Given the description of an element on the screen output the (x, y) to click on. 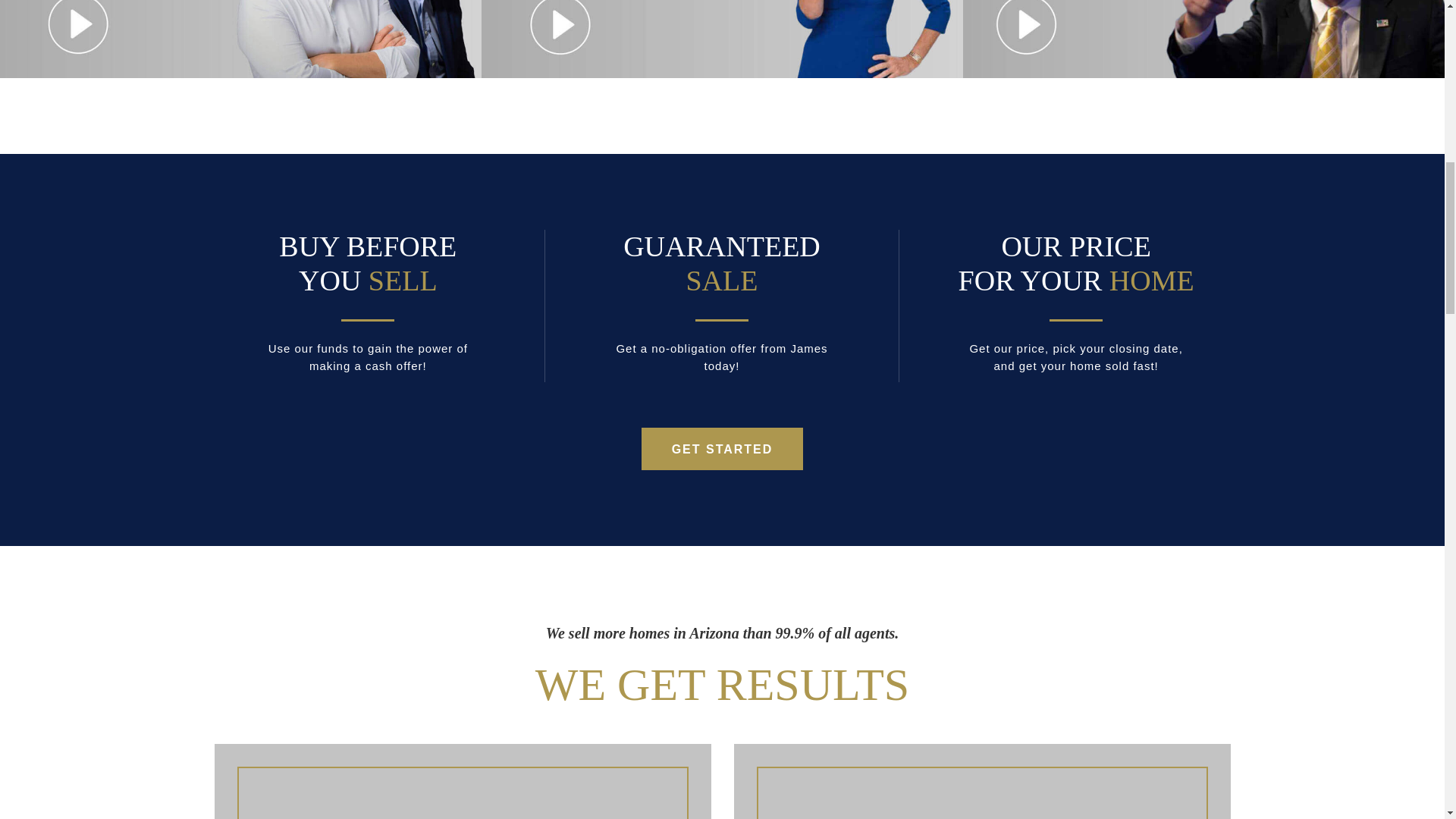
Watch Video (721, 38)
Listen Now (240, 38)
